Given the description of an element on the screen output the (x, y) to click on. 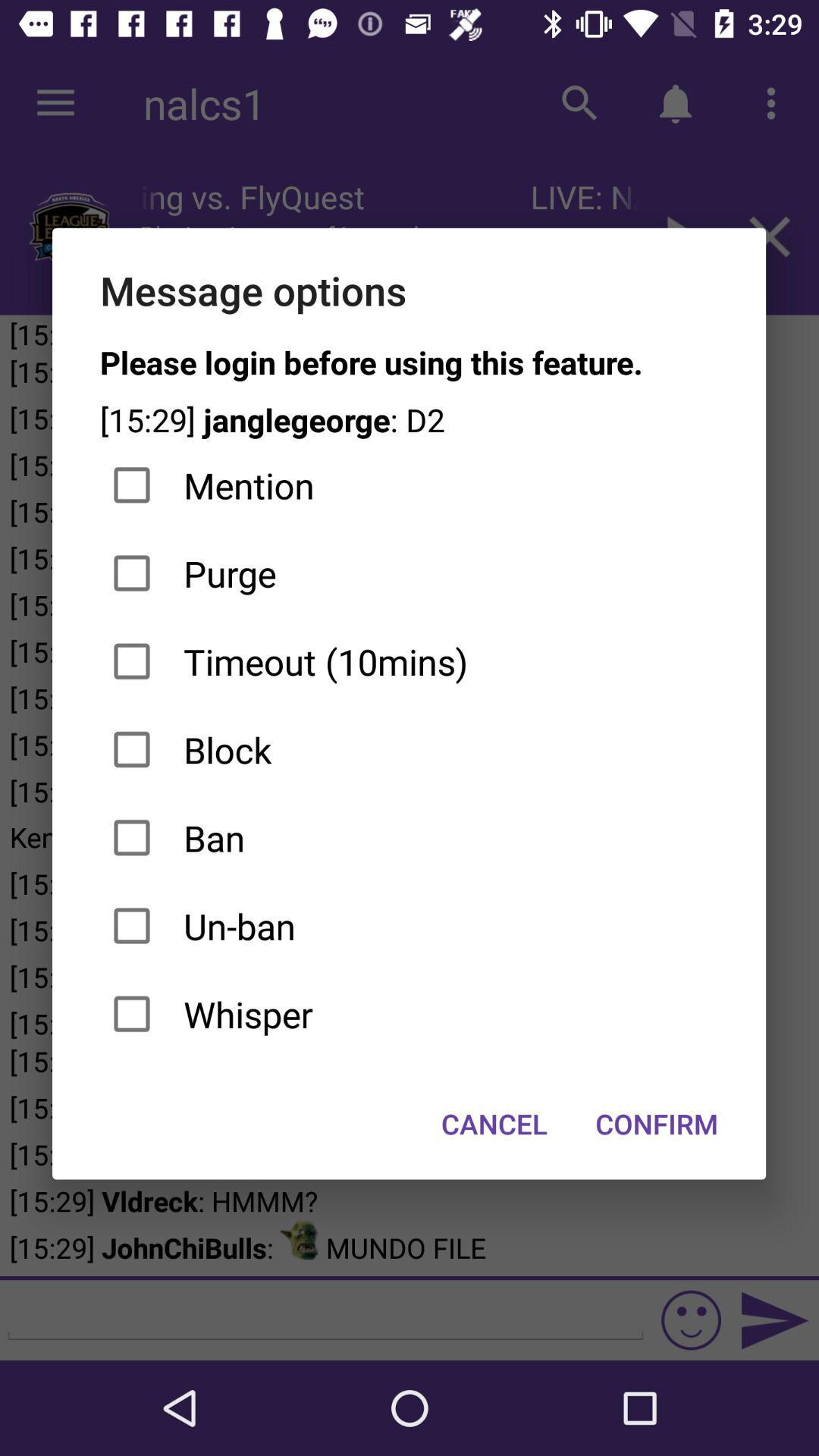
press the item below the mention (409, 573)
